Given the description of an element on the screen output the (x, y) to click on. 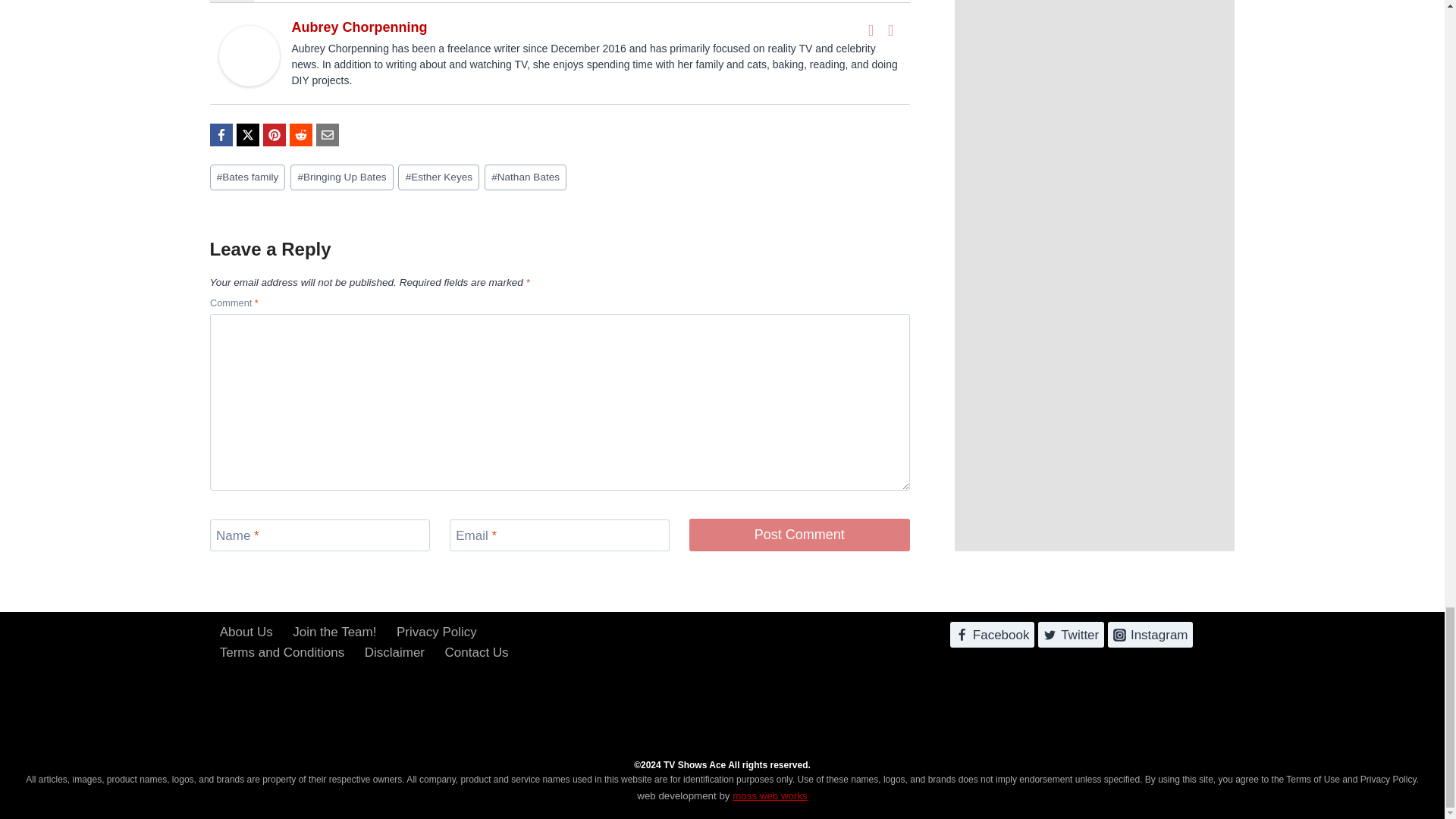
Bates family (247, 177)
Recent Posts (293, 1)
Post Comment (799, 534)
Esther Keyes (438, 177)
Facebook (870, 30)
Author (231, 1)
Aubrey Chorpenning (358, 27)
Bringing Up Bates (341, 177)
Nathan Bates (525, 177)
Twitter (890, 30)
